Given the description of an element on the screen output the (x, y) to click on. 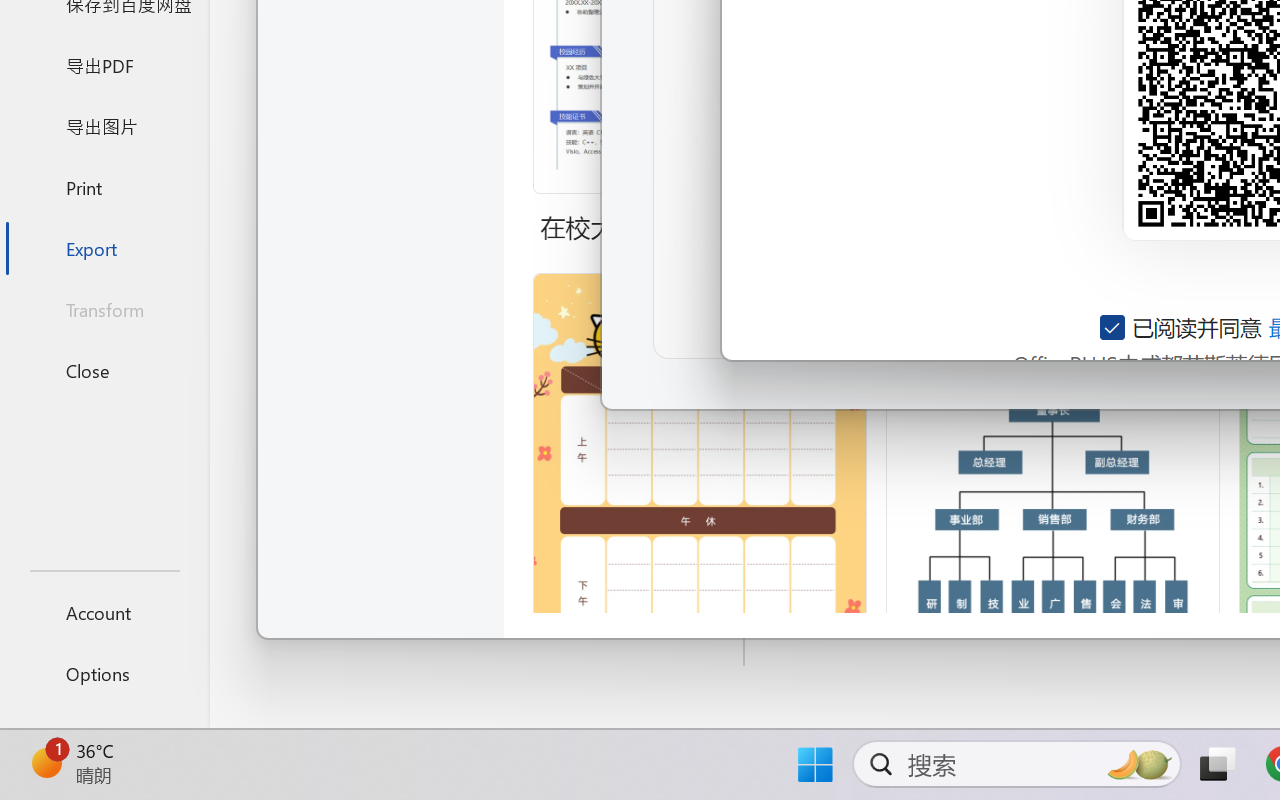
Transform (104, 309)
Account (104, 612)
Print (104, 186)
AutomationID: checkbox-14 (1114, 327)
Options (104, 673)
Export (104, 248)
